Given the description of an element on the screen output the (x, y) to click on. 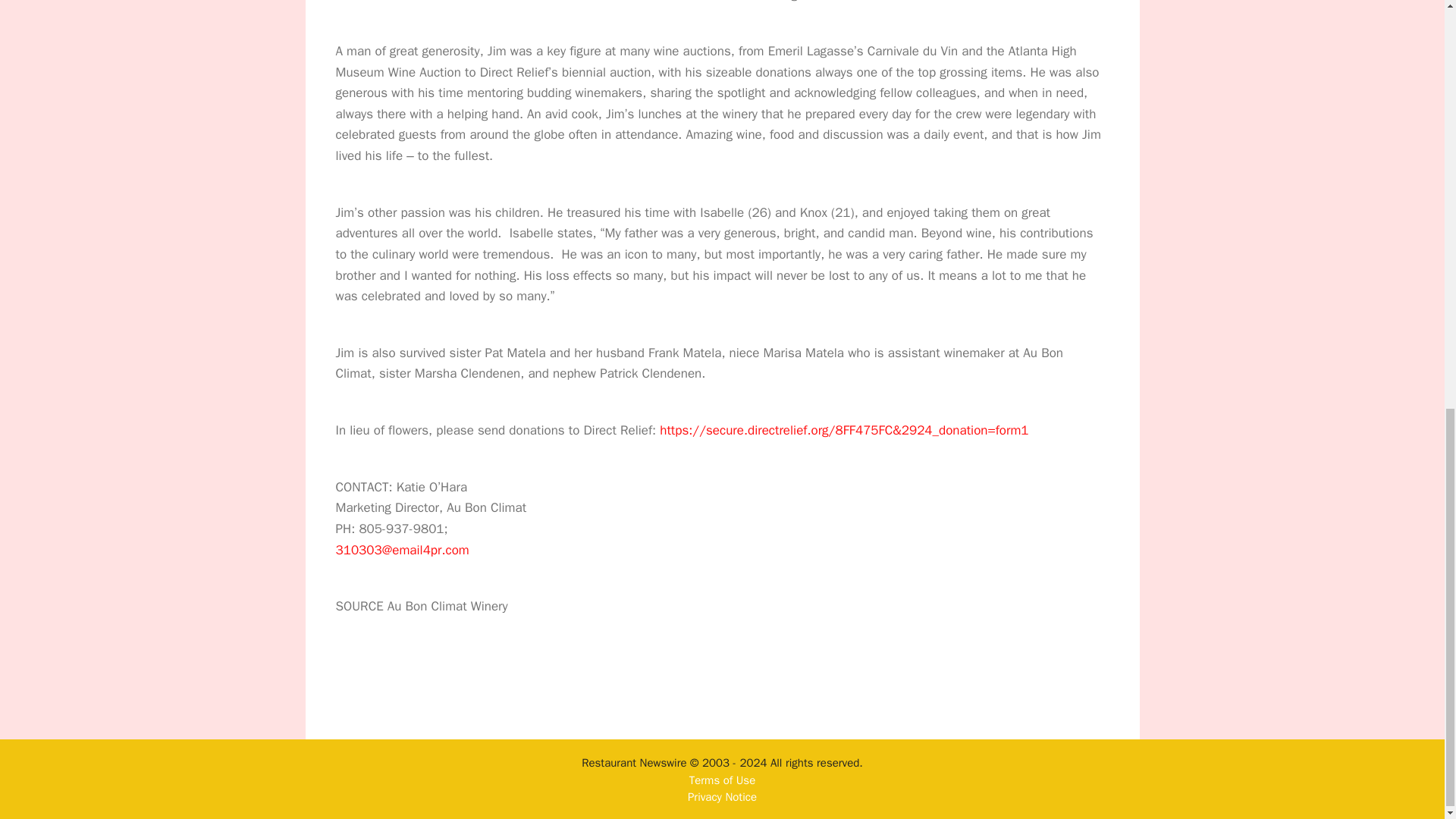
Privacy Notice (722, 796)
Terms of Use (721, 780)
